Given the description of an element on the screen output the (x, y) to click on. 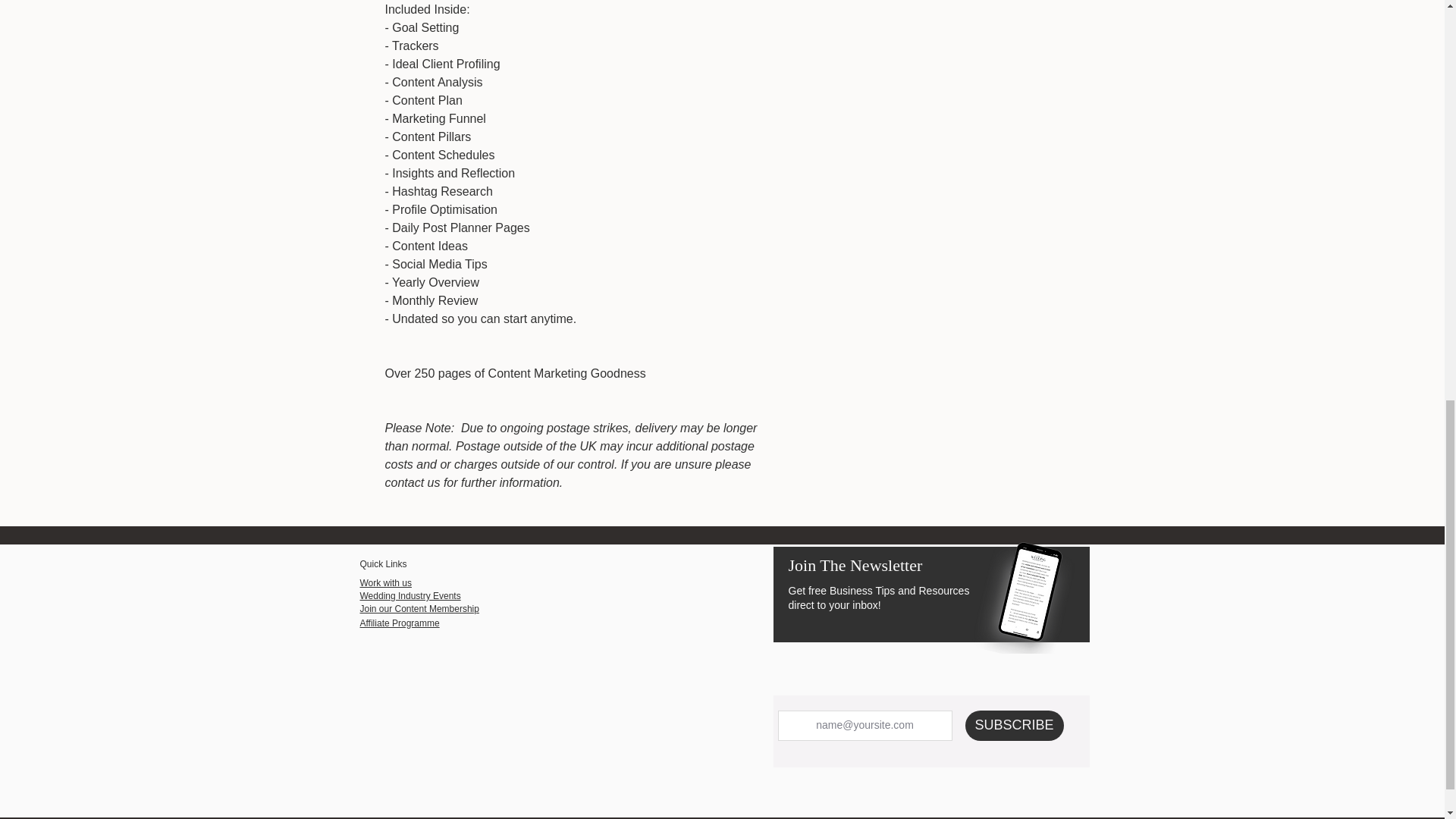
Wedding Industry Events (409, 595)
Work with us (384, 583)
Affiliate Programme (399, 622)
Join our Content Membership (419, 608)
SUBSCRIBE (1012, 725)
